Given the description of an element on the screen output the (x, y) to click on. 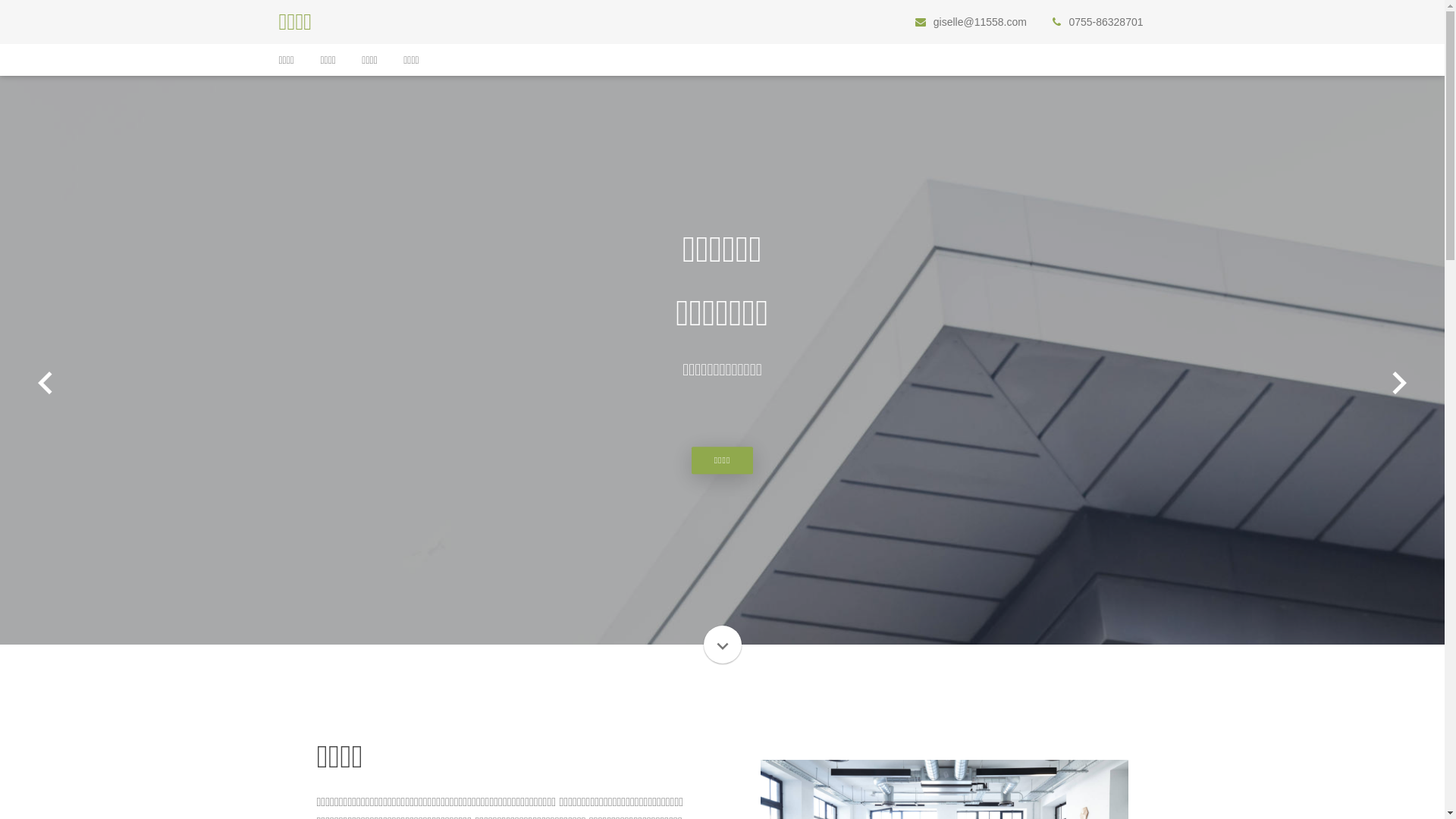
keyboard_arrow_right Element type: text (1398, 383)
keyboard_arrow_down Element type: text (722, 644)
keyboard_arrow_left Element type: text (45, 383)
giselle@11558.com Element type: text (979, 21)
